Given the description of an element on the screen output the (x, y) to click on. 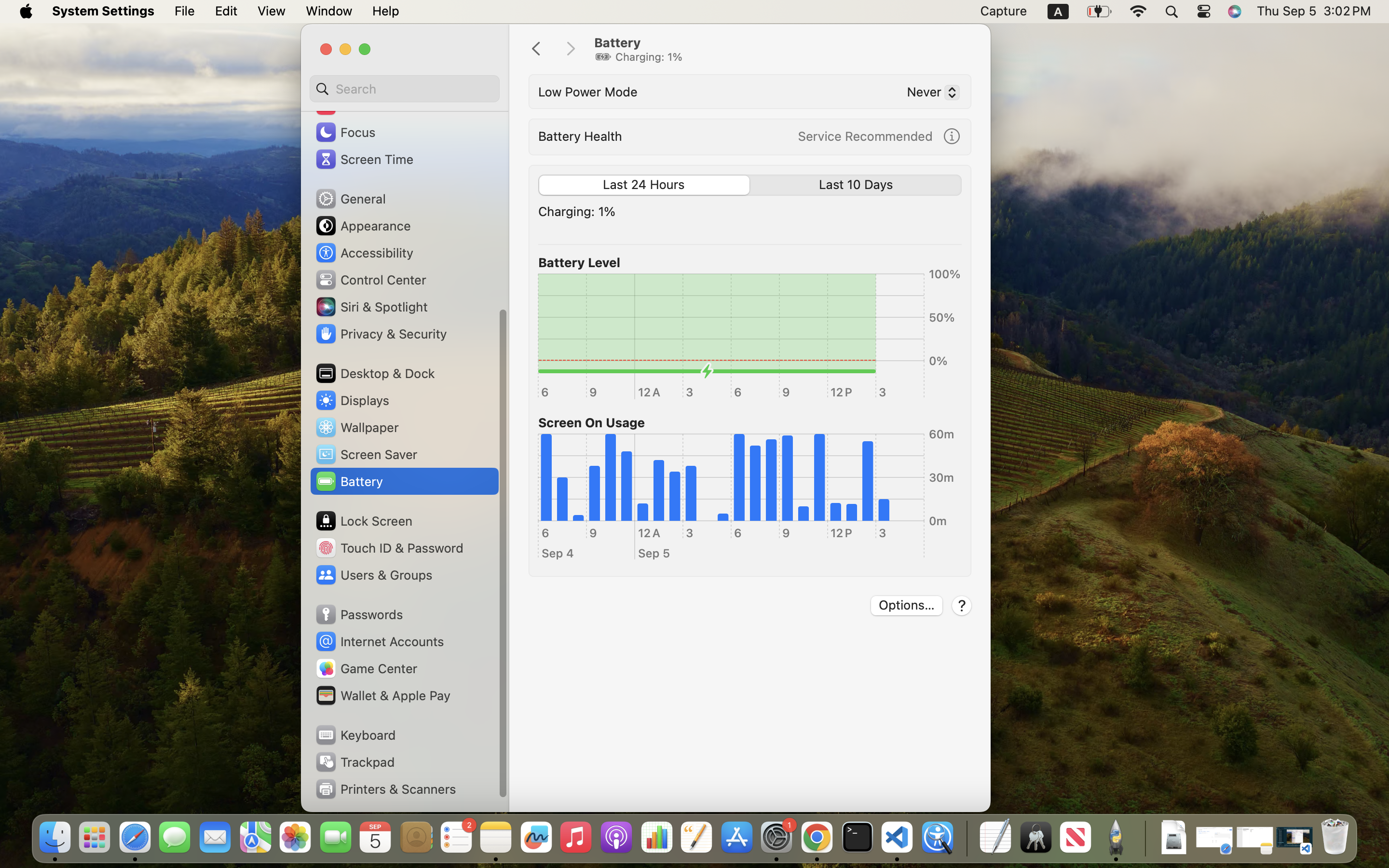
Users & Groups Element type: AXStaticText (373, 574)
Battery Health Element type: AXStaticText (580, 135)
Charging: 1% Element type: AXStaticText (576, 210)
Keyboard Element type: AXStaticText (354, 734)
0.4285714328289032 Element type: AXDockItem (965, 837)
